Given the description of an element on the screen output the (x, y) to click on. 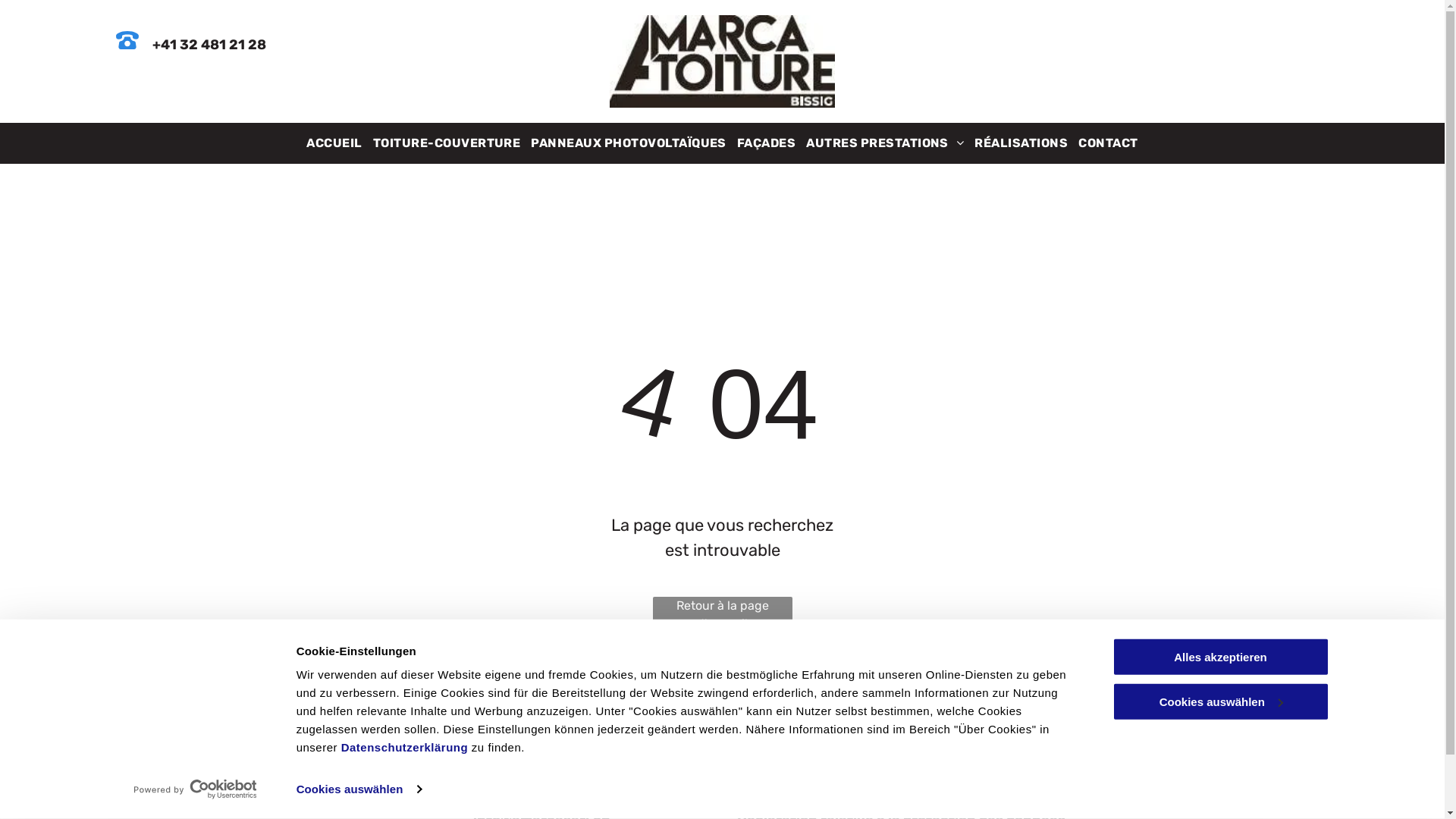
+41 78 646 85 49 Element type: text (601, 792)
32 481 21 28 Element type: text (492, 792)
TOITURE-COUVERTURE Element type: text (446, 142)
ACCUEIL Element type: text (334, 142)
+41 32 481 21 28 Element type: text (209, 44)
+41 Element type: text (434, 792)
a-Marca-Toiture_logo Element type: hover (721, 61)
a-Marca-Toiture_logo Element type: hover (179, 772)
Alles akzeptieren Element type: text (1219, 656)
CONTACT Element type: text (1107, 142)
AUTRES PRESTATIONS Element type: text (884, 142)
